Given the description of an element on the screen output the (x, y) to click on. 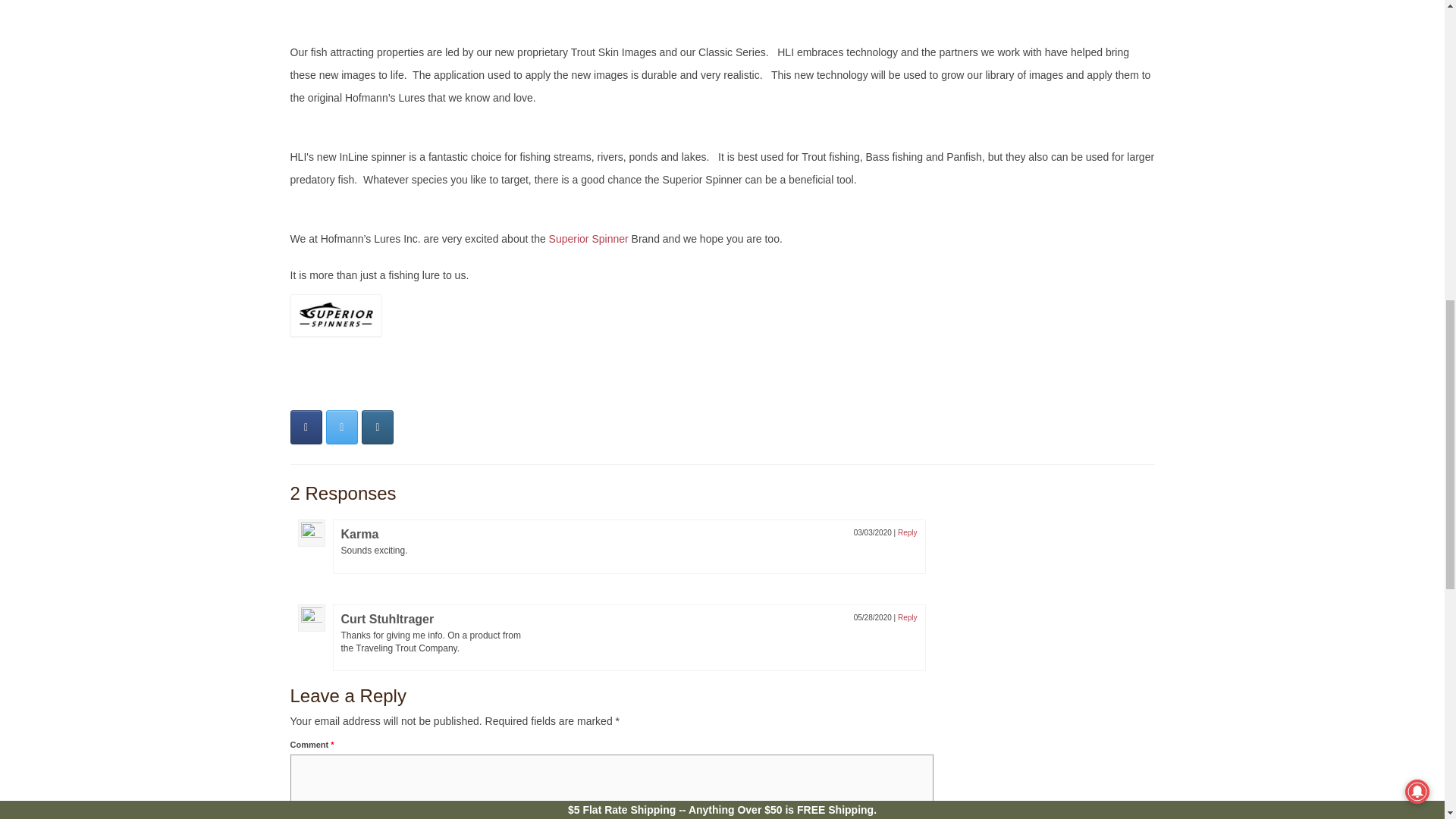
HLI-Twitter (342, 427)
HLI-Facebook (305, 427)
HLI-Instagram (377, 427)
